Given the description of an element on the screen output the (x, y) to click on. 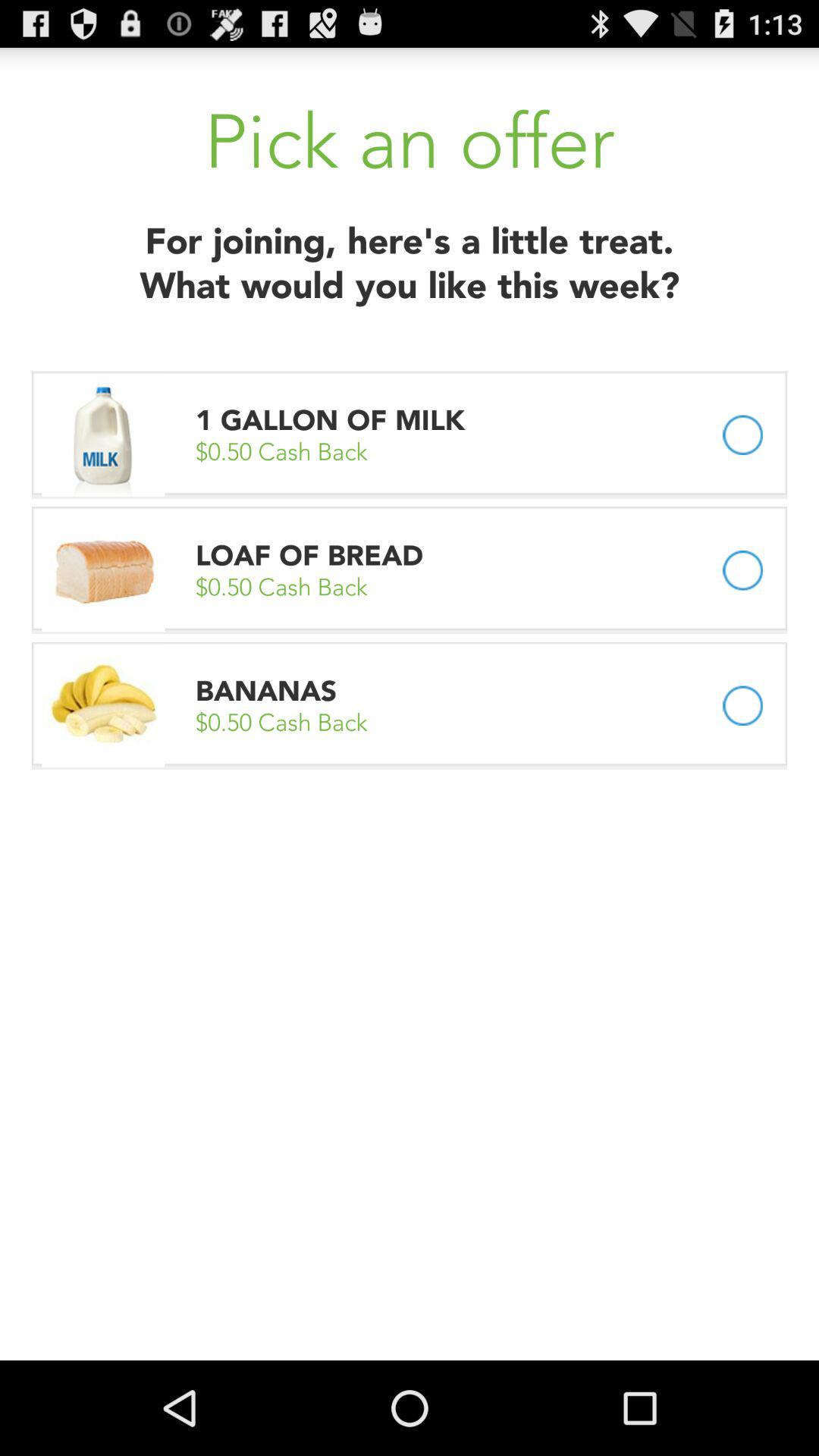
jump until the 1 gallon of (334, 420)
